Given the description of an element on the screen output the (x, y) to click on. 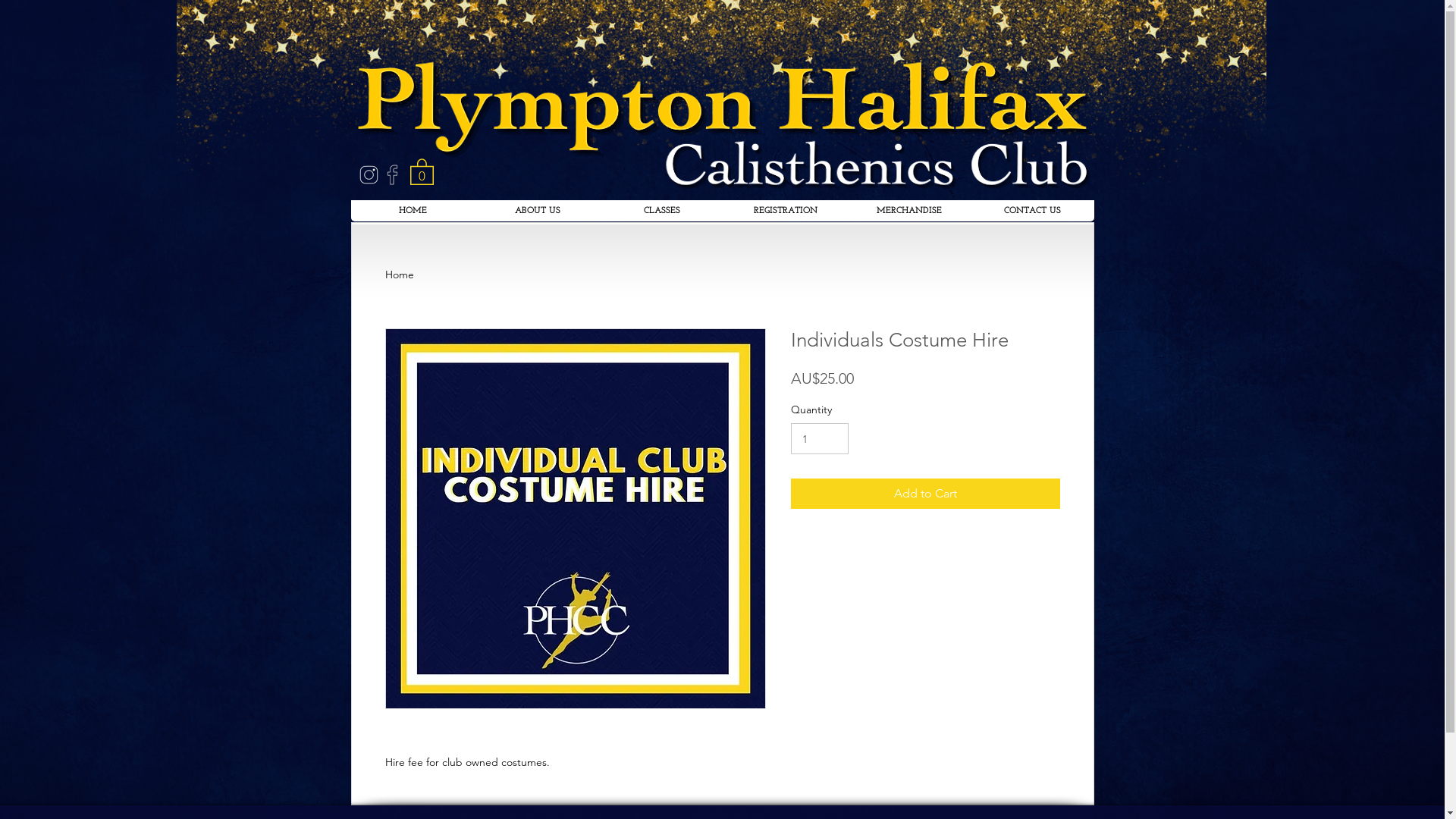
CLASSES Element type: text (660, 210)
Home Element type: text (399, 274)
Plympton halifax_edited.png Element type: hover (720, 99)
REGISTRATION Element type: text (785, 210)
MERCHANDISE Element type: text (907, 210)
0 Element type: text (421, 170)
CONTACT US Element type: text (1032, 210)
HOME Element type: text (412, 210)
ABOUT US Element type: text (536, 210)
Add to Cart Element type: text (924, 493)
